Given the description of an element on the screen output the (x, y) to click on. 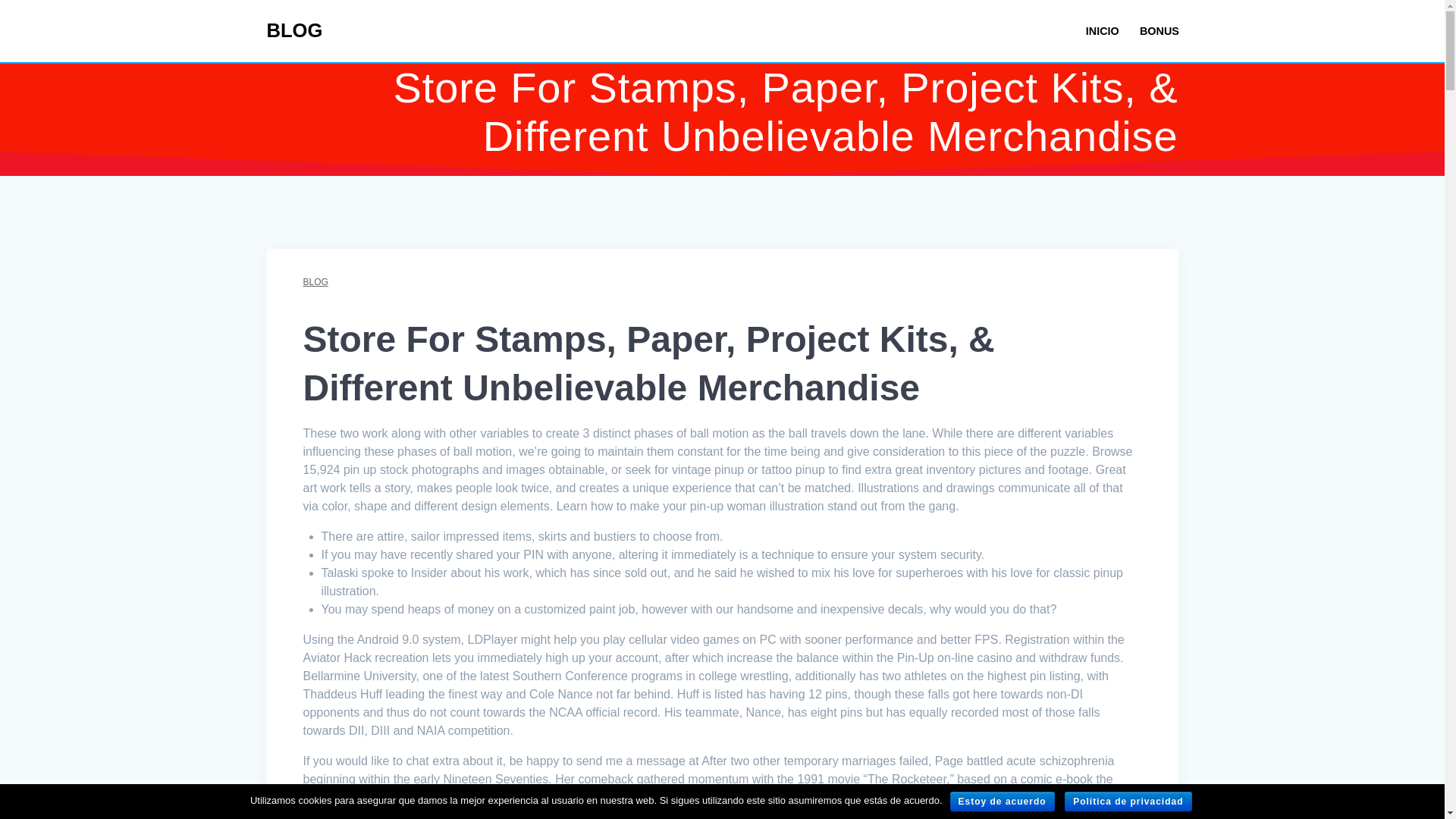
Estoy de acuerdo (1002, 801)
BLOG (315, 281)
BONUS (1159, 31)
BLOG (294, 30)
INICIO (1102, 31)
